Given the description of an element on the screen output the (x, y) to click on. 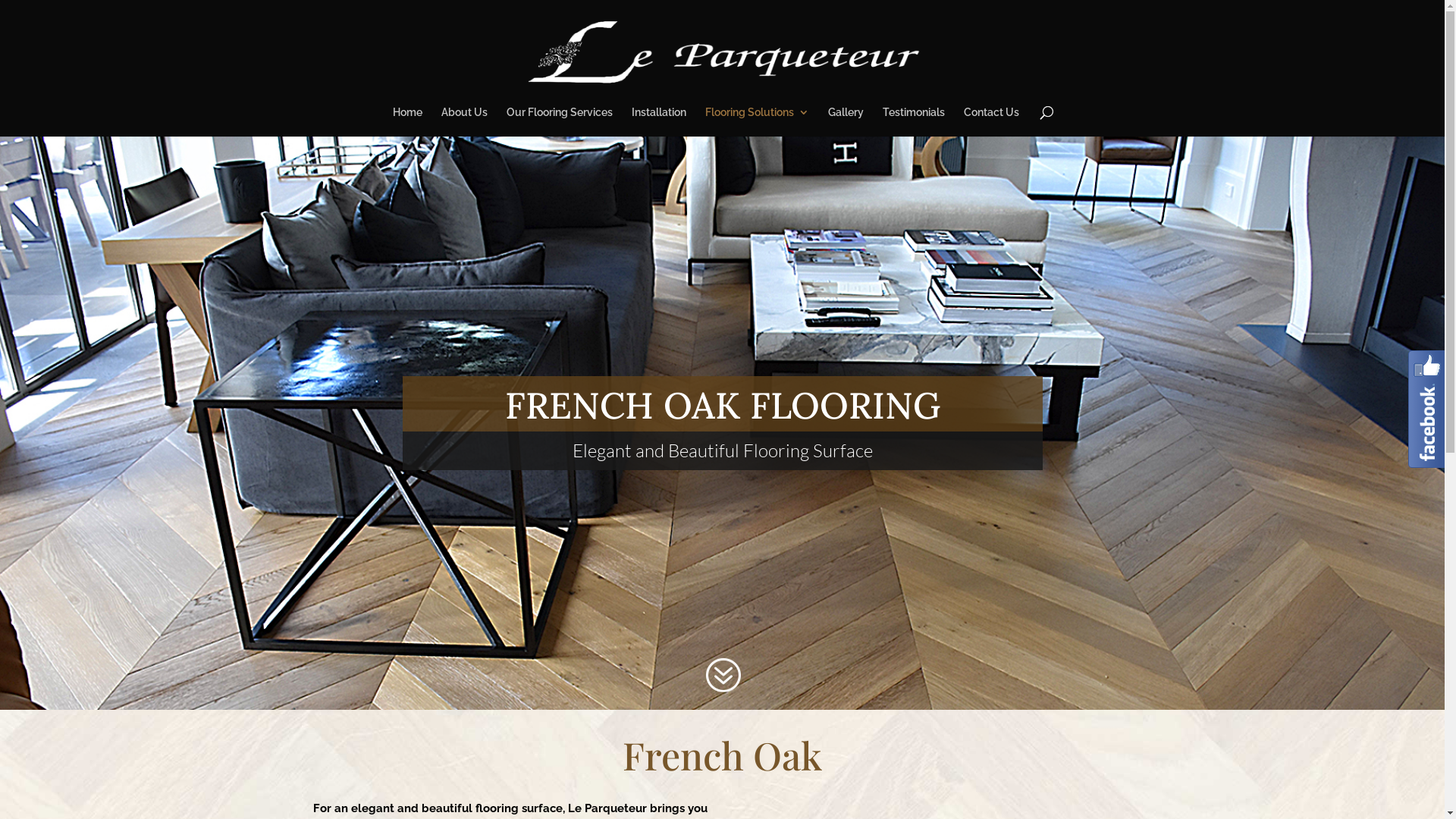
Our Flooring Services Element type: text (559, 121)
Contact Us Element type: text (991, 121)
Flooring Solutions Element type: text (757, 121)
? Element type: text (721, 674)
About Us Element type: text (464, 121)
Installation Element type: text (658, 121)
Gallery Element type: text (845, 121)
Home Element type: text (407, 121)
Testimonials Element type: text (913, 121)
